Given the description of an element on the screen output the (x, y) to click on. 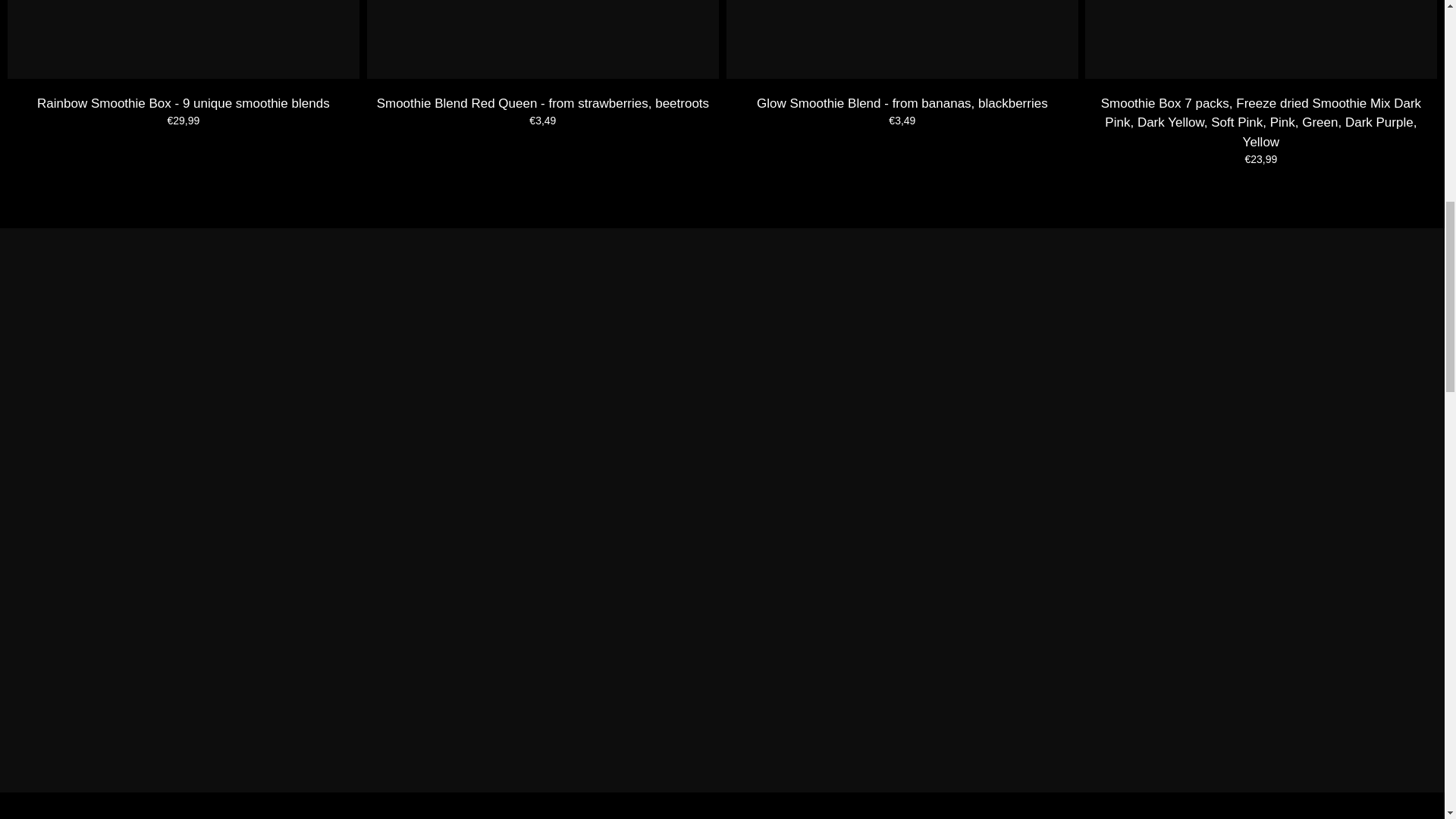
Smoothie Blend Red Queen - from strawberries, beetroots (542, 39)
Glow Smoothie Blend - from bananas, blackberries (902, 39)
Rainbow Smoothie Box - 9 unique smoothie blends (183, 39)
